Given the description of an element on the screen output the (x, y) to click on. 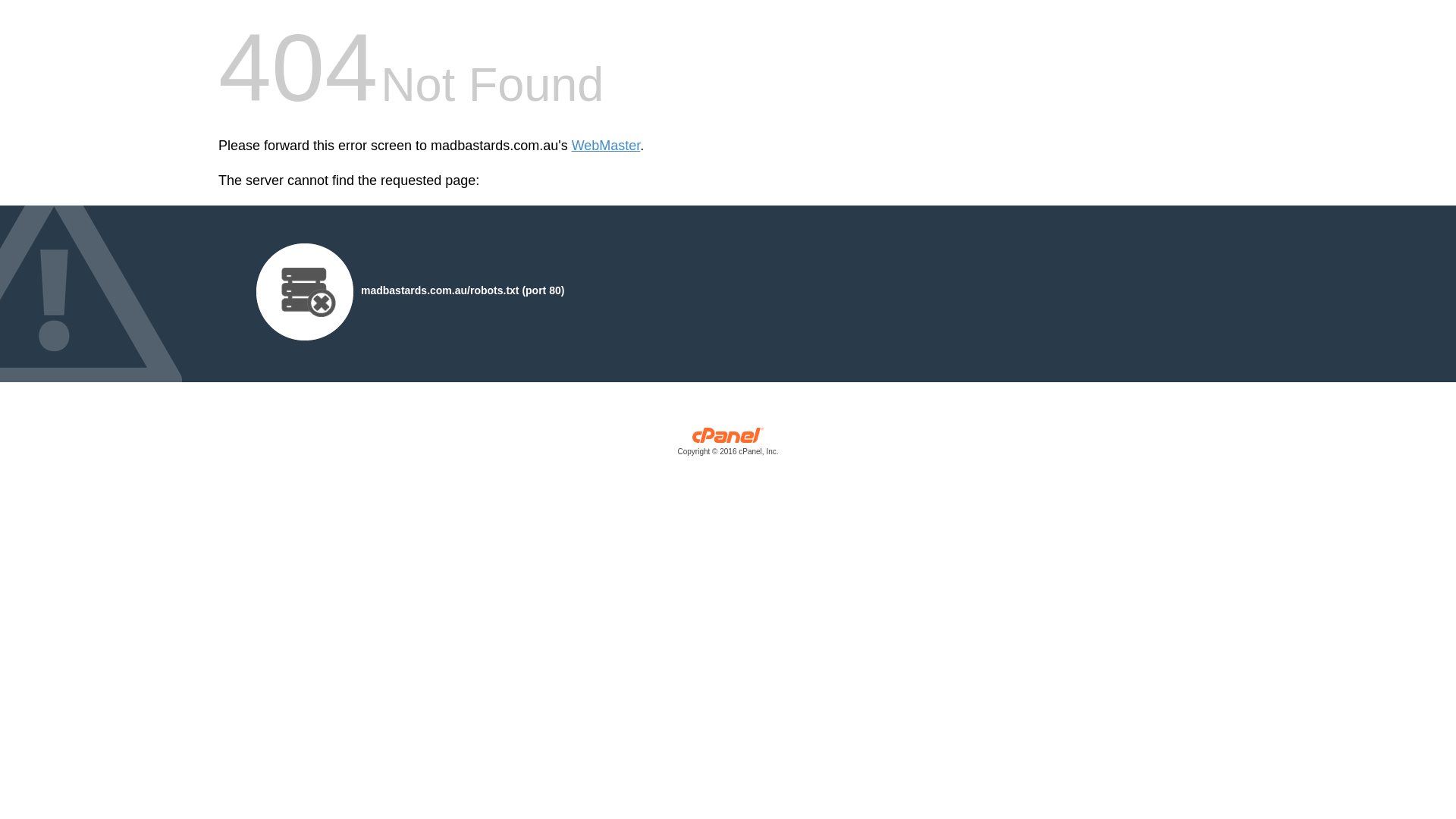
WebMaster Element type: text (605, 145)
